Given the description of an element on the screen output the (x, y) to click on. 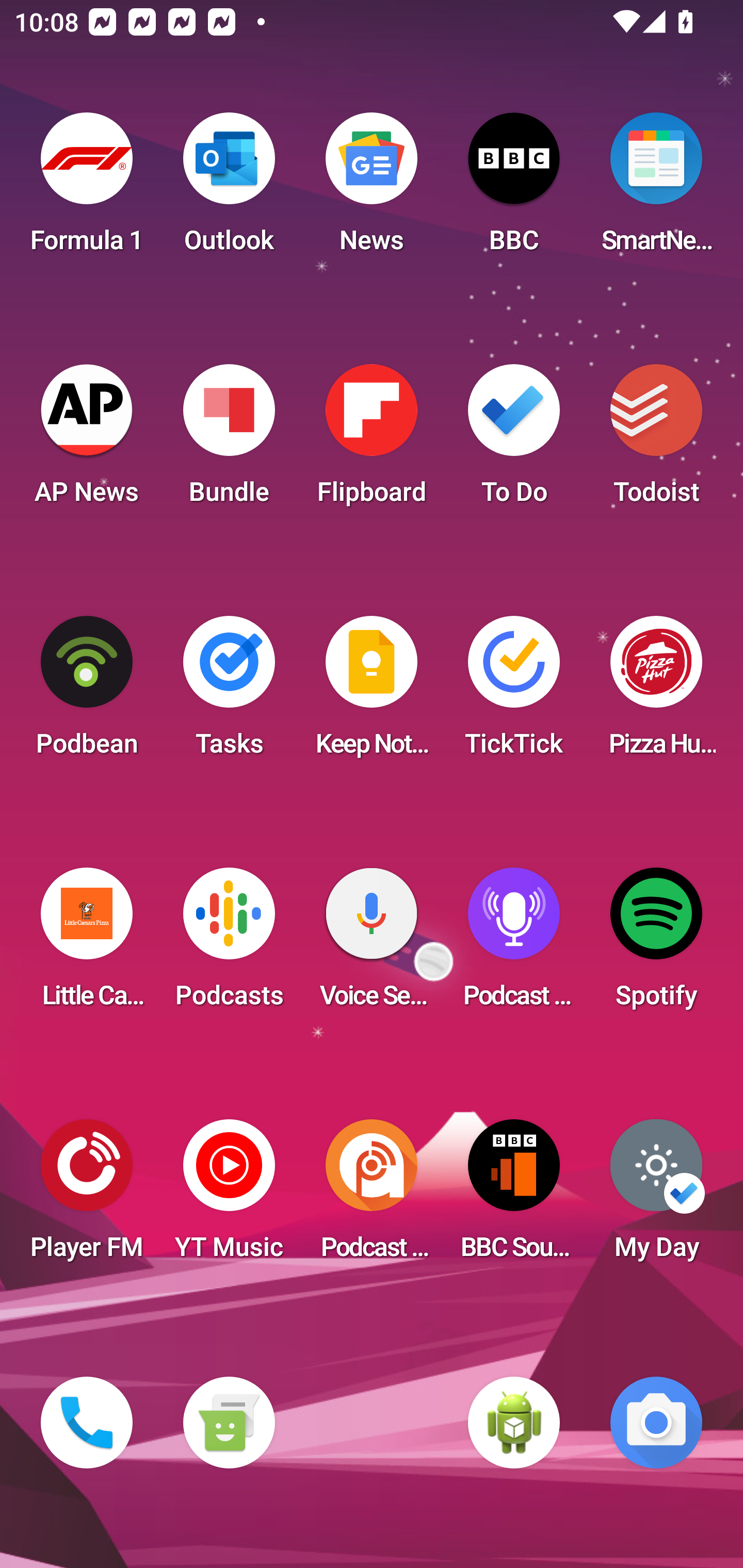
Formula 1 (86, 188)
Outlook (228, 188)
News (371, 188)
BBC (513, 188)
SmartNews (656, 188)
AP News (86, 440)
Bundle (228, 440)
Flipboard (371, 440)
To Do (513, 440)
Todoist (656, 440)
Podbean (86, 692)
Tasks (228, 692)
Keep Notes (371, 692)
TickTick (513, 692)
Pizza Hut HK & Macau (656, 692)
Little Caesars Pizza (86, 943)
Podcasts (228, 943)
Voice Search (371, 943)
Podcast Player (513, 943)
Spotify (656, 943)
Player FM (86, 1195)
YT Music (228, 1195)
Podcast Addict (371, 1195)
BBC Sounds (513, 1195)
My Day (656, 1195)
Phone (86, 1422)
Messaging (228, 1422)
WebView Browser Tester (513, 1422)
Camera (656, 1422)
